Given the description of an element on the screen output the (x, y) to click on. 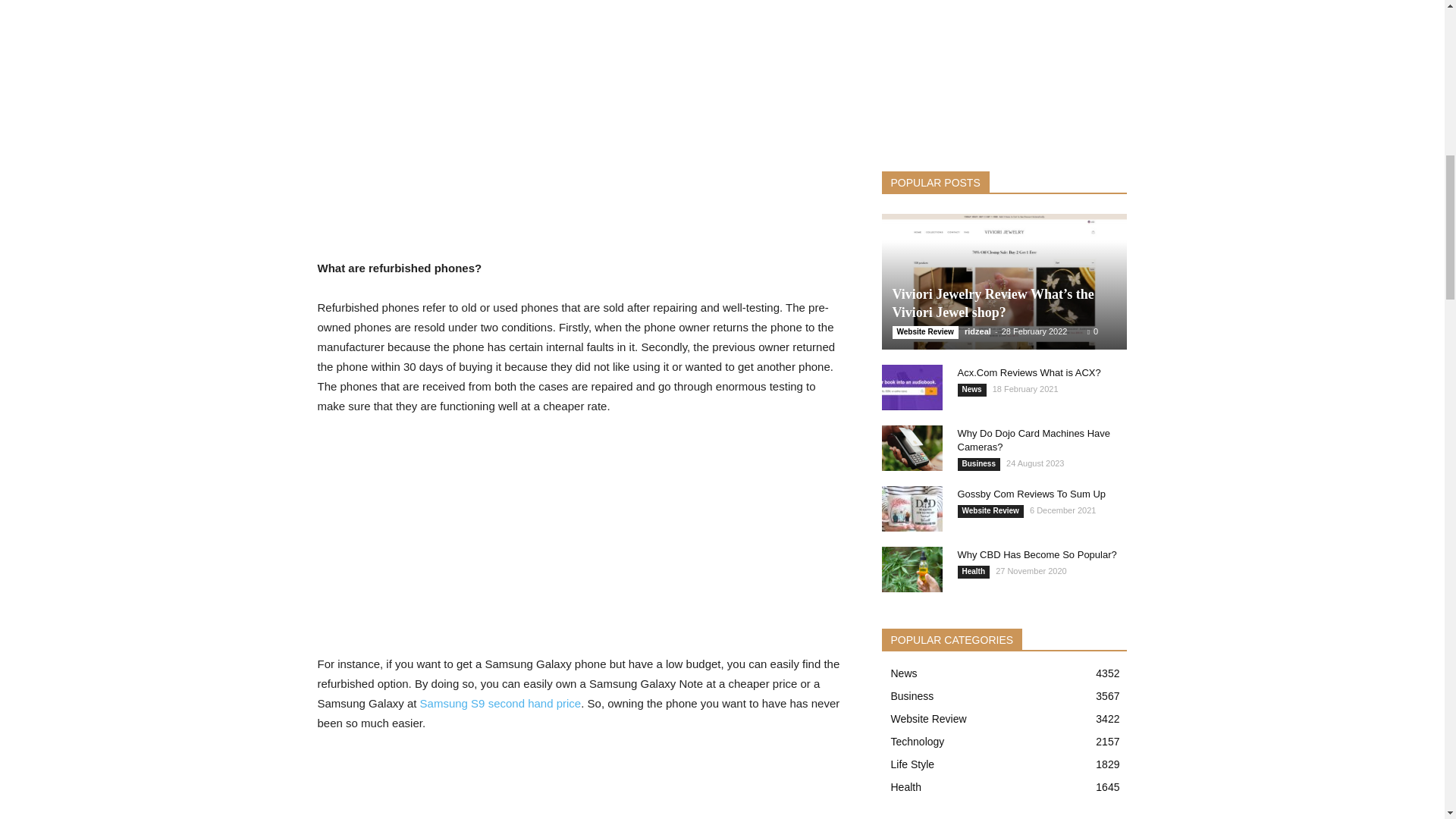
Advertisement (580, 541)
Advertisement (580, 219)
Advertisement (580, 95)
Advertisement (580, 785)
